Given the description of an element on the screen output the (x, y) to click on. 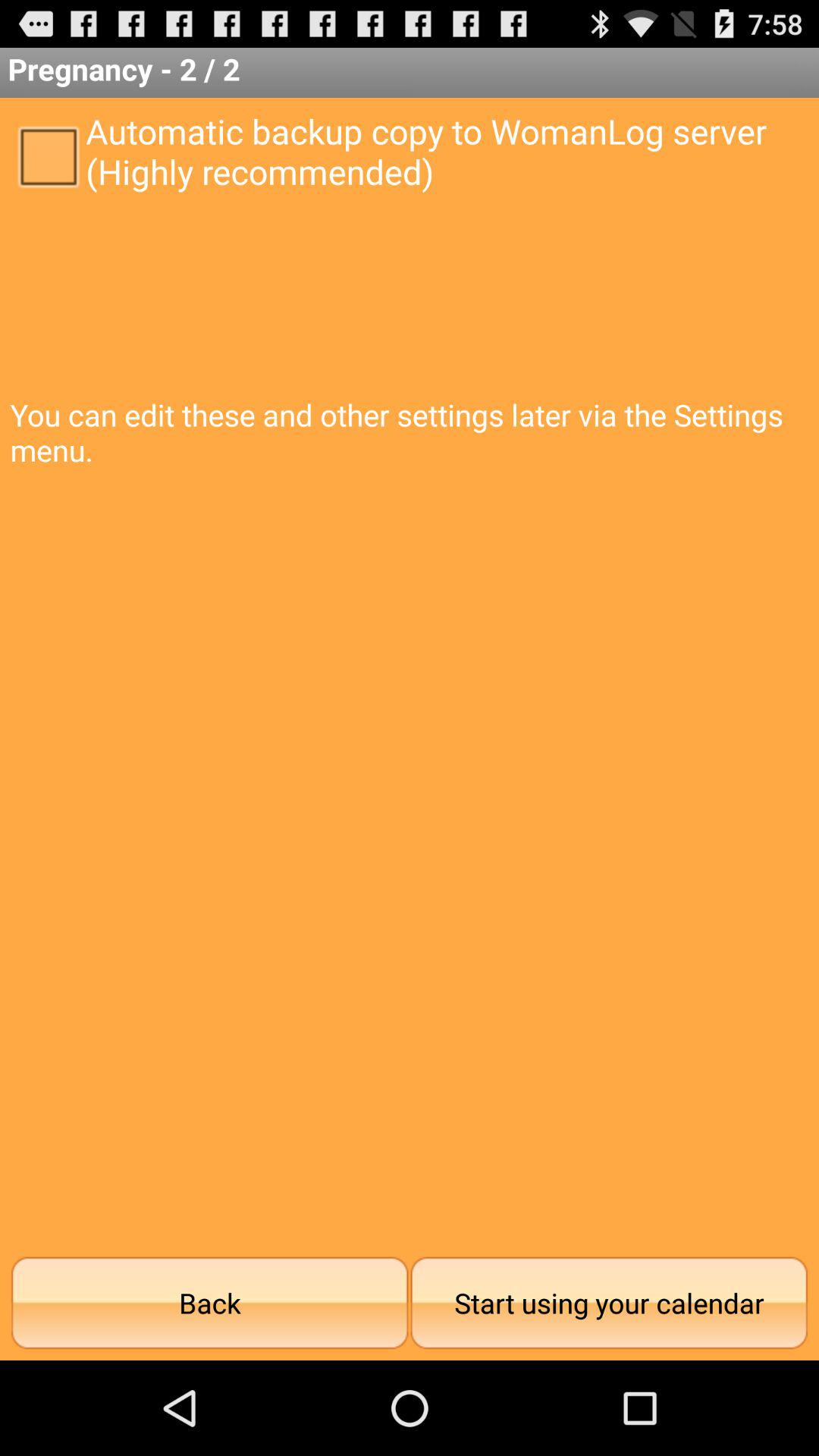
check (47, 155)
